Given the description of an element on the screen output the (x, y) to click on. 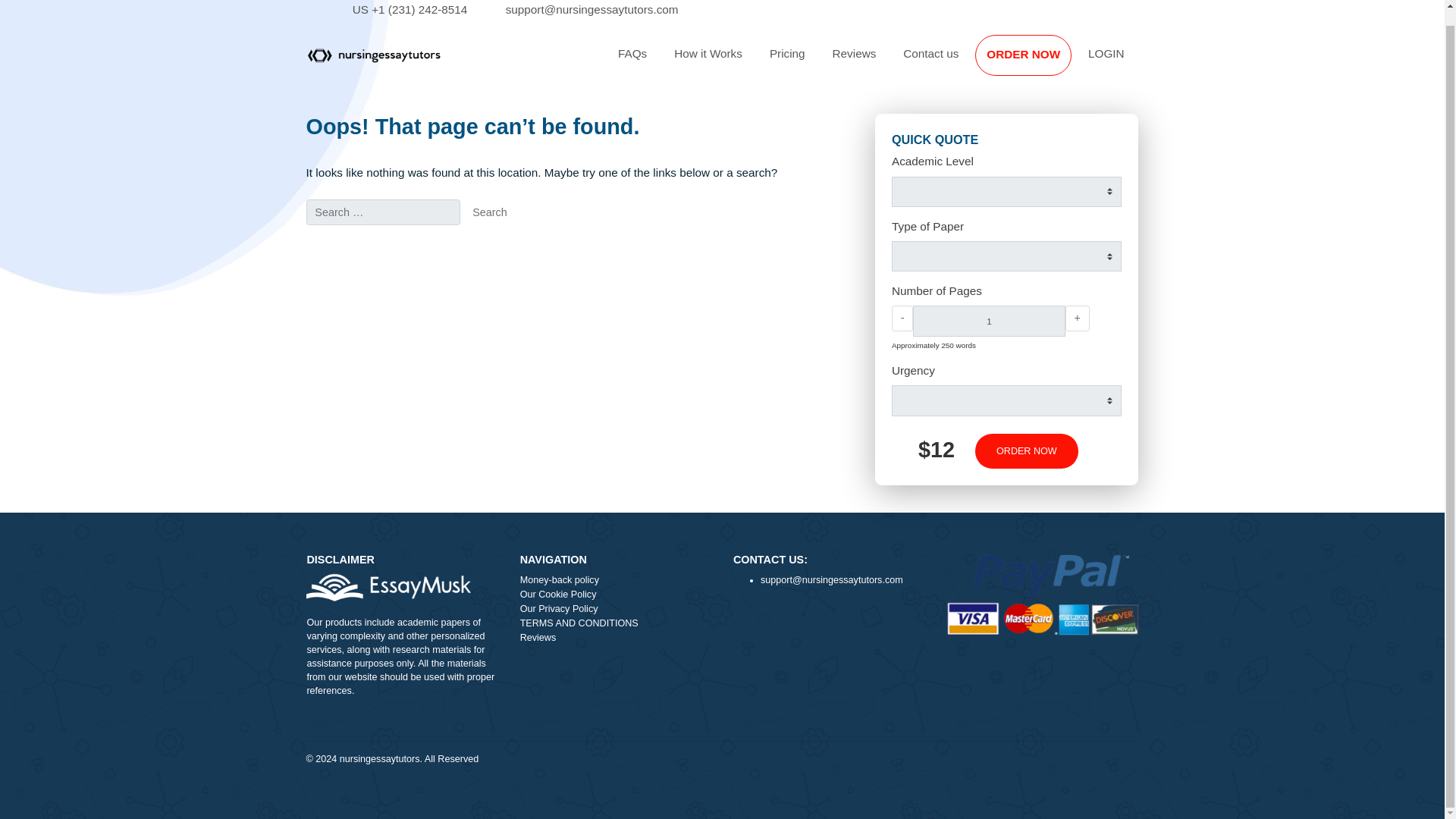
Money-back policy (685, 647)
Search (544, 237)
How it Works (786, 61)
Reviews (685, 710)
Contact us (1034, 61)
LOGIN (1229, 61)
Search (544, 237)
ORDER NOW (1137, 62)
Reviews (948, 61)
1 (1098, 358)
